Given the description of an element on the screen output the (x, y) to click on. 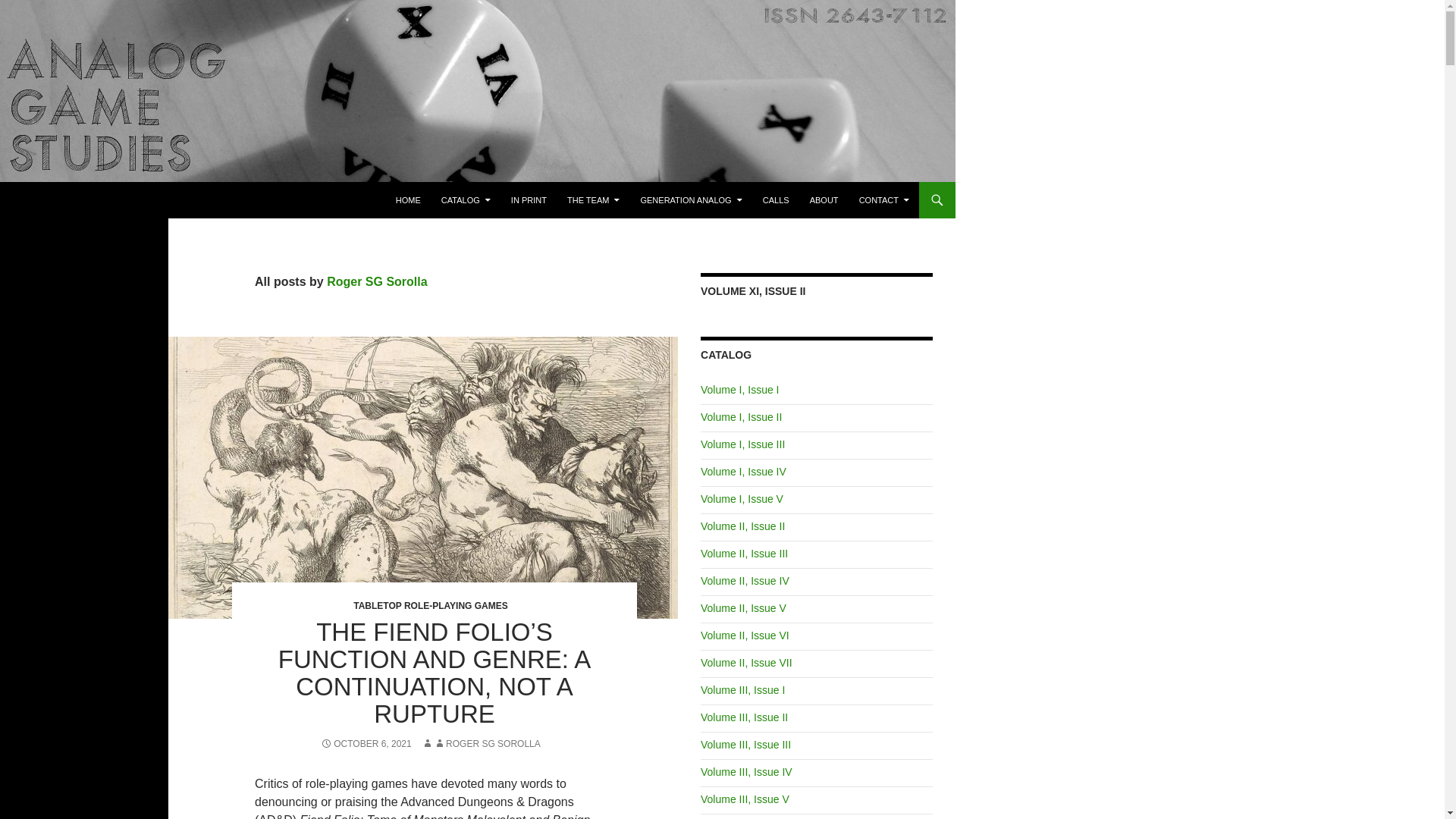
Volume II, Issue VI (744, 635)
Volume II, Issue III (743, 553)
Volume II, Issue IV (744, 580)
Volume III, Issue I (742, 689)
Volume I, Issue V (741, 499)
Volume III, Issue II (743, 717)
Analog Game Studies (93, 199)
HOME (408, 199)
CATALOG (465, 199)
Volume II, Issue VII (746, 662)
Volume II, Issue II (742, 526)
Volume I, Issue III (742, 444)
Volume III, Issue IV (746, 771)
Volume I, Issue IV (743, 471)
